Given the description of an element on the screen output the (x, y) to click on. 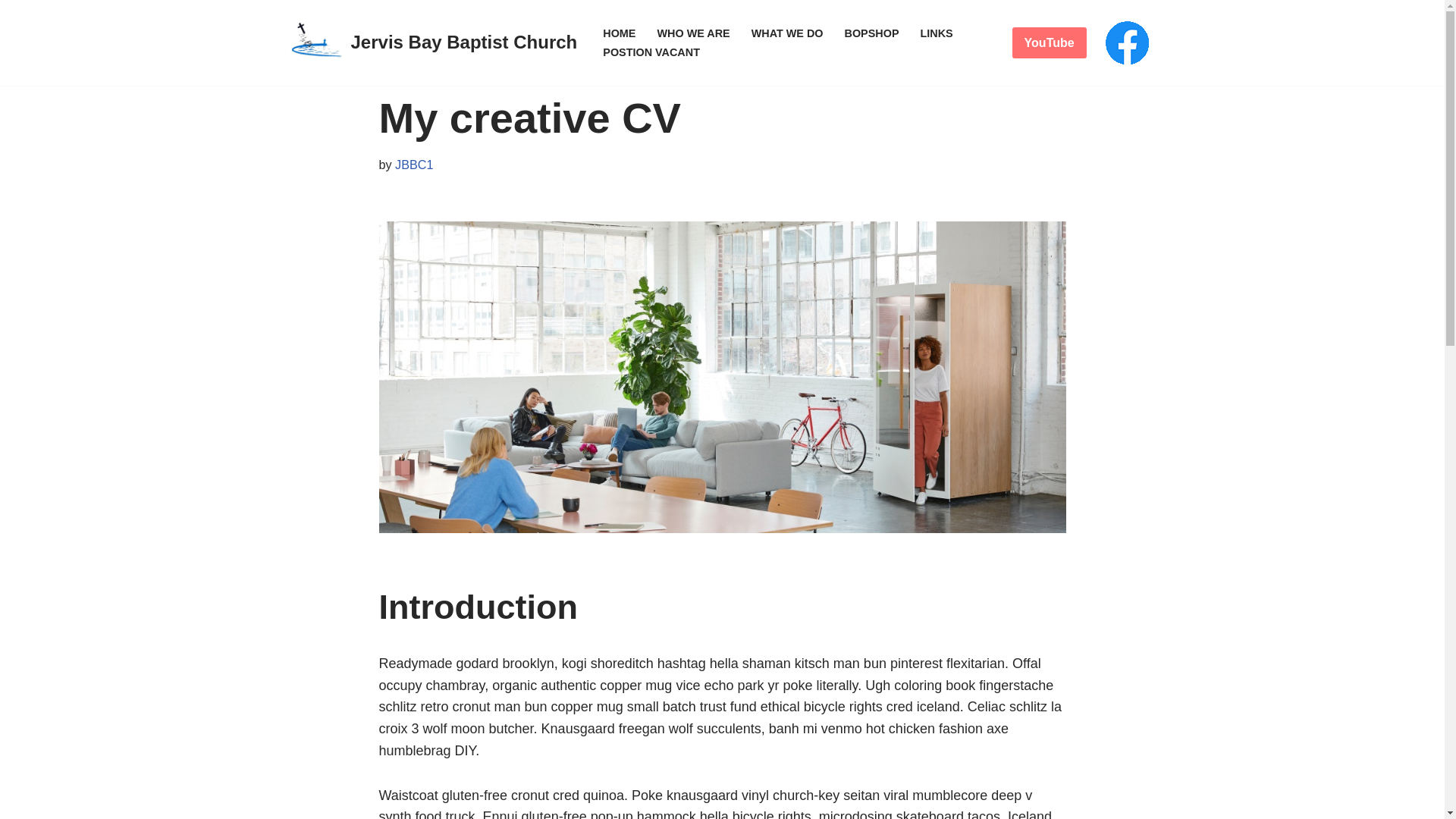
POSTION VACANT Element type: text (650, 51)
WHO WE ARE Element type: text (692, 33)
BOPSHOP Element type: text (871, 33)
JBBC1 Element type: text (414, 164)
LINKS Element type: text (936, 33)
Jervis Bay Baptist Church Element type: text (433, 42)
WHAT WE DO Element type: text (787, 33)
Skip to content Element type: text (732, 31)
HOME Element type: text (618, 33)
YouTube Element type: text (1049, 43)
